Given the description of an element on the screen output the (x, y) to click on. 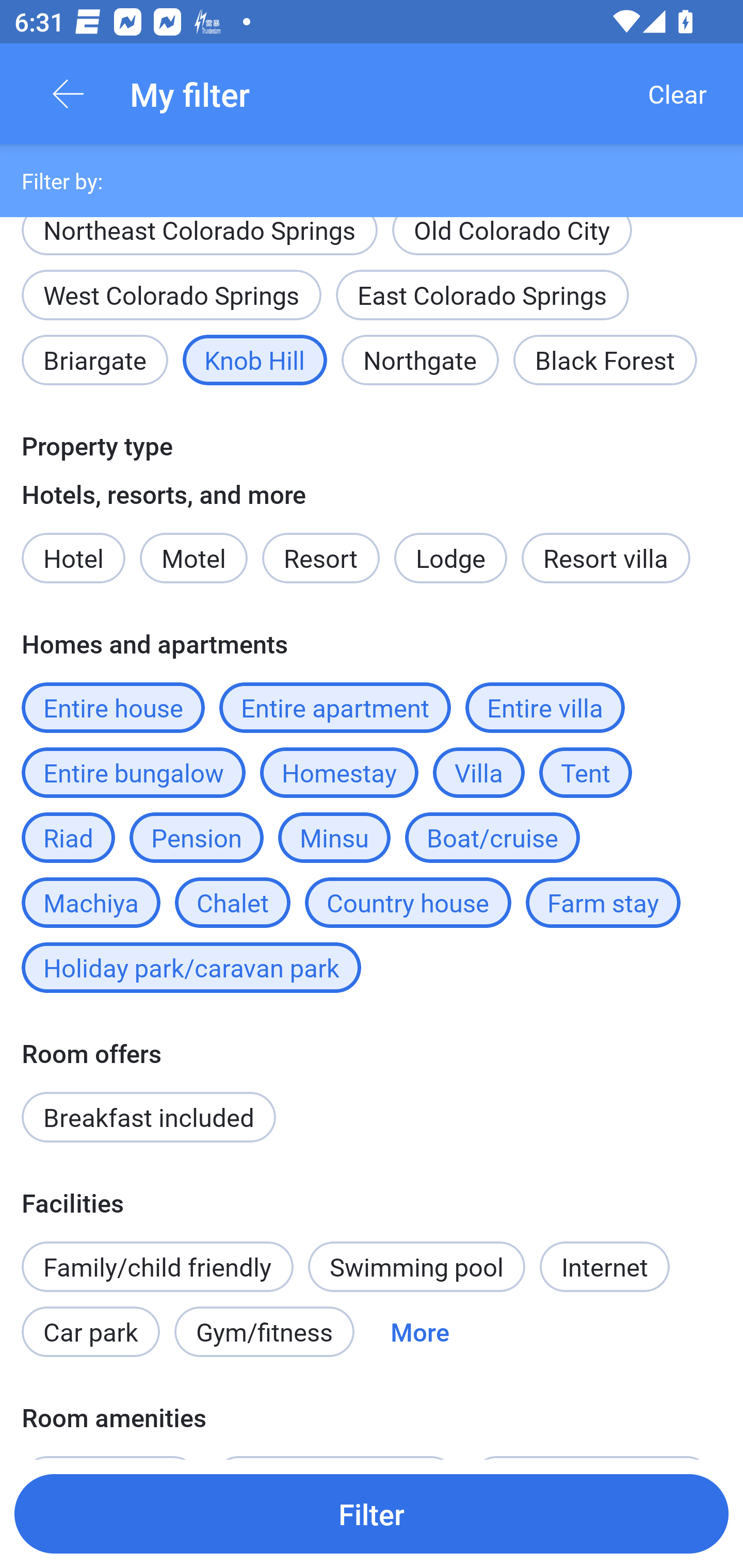
Clear (676, 93)
Northeast Colorado Springs (199, 244)
Old Colorado City (512, 244)
West Colorado Springs (171, 295)
East Colorado Springs (482, 295)
Briargate (94, 359)
Northgate (420, 359)
Black Forest (604, 359)
Hotel (73, 558)
Motel (193, 558)
Resort (320, 558)
Lodge (450, 558)
Resort villa (605, 558)
Breakfast included (148, 1117)
Family/child friendly (157, 1266)
Swimming pool (416, 1266)
Internet (604, 1266)
Car park (90, 1331)
Gym/fitness (264, 1331)
More (420, 1331)
Filter (371, 1513)
